Given the description of an element on the screen output the (x, y) to click on. 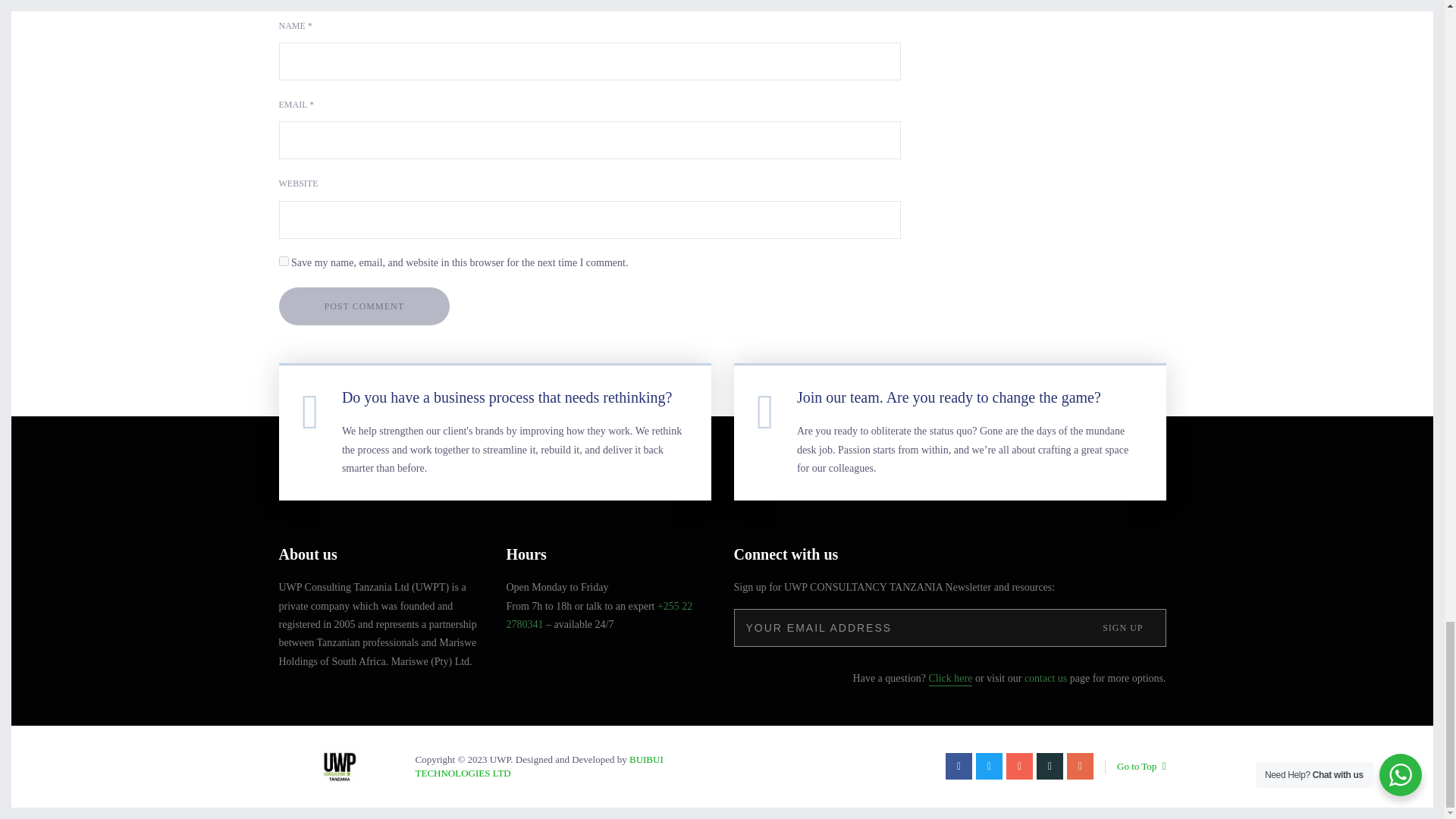
Post Comment (364, 306)
yes (283, 261)
Sign up (1123, 628)
